Given the description of an element on the screen output the (x, y) to click on. 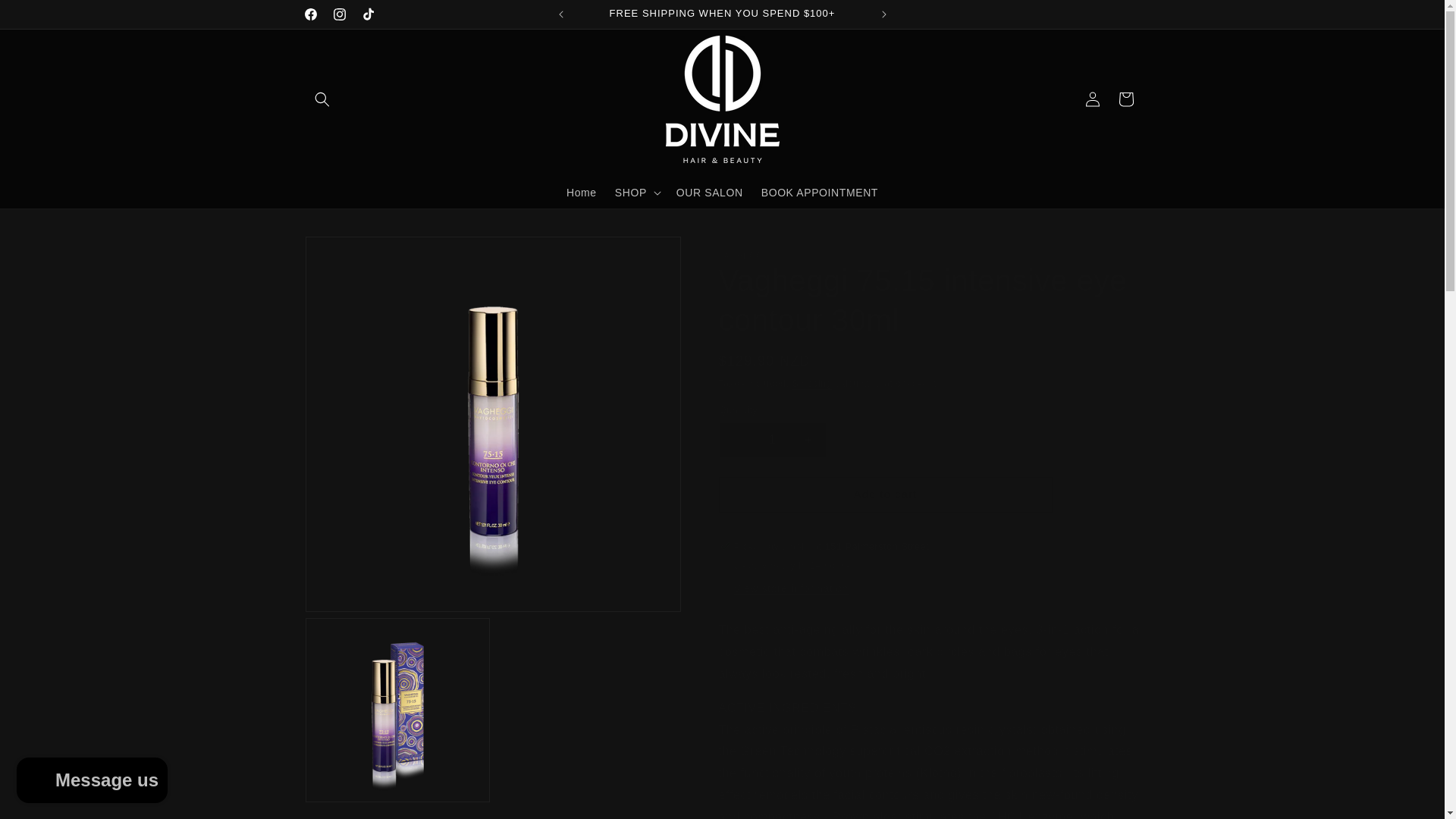
1 (773, 439)
Shopify online store chat (91, 781)
Open media 2 in modal (396, 710)
Skip to content (45, 17)
TikTok (367, 14)
Instagram (338, 14)
Facebook (309, 14)
